Given the description of an element on the screen output the (x, y) to click on. 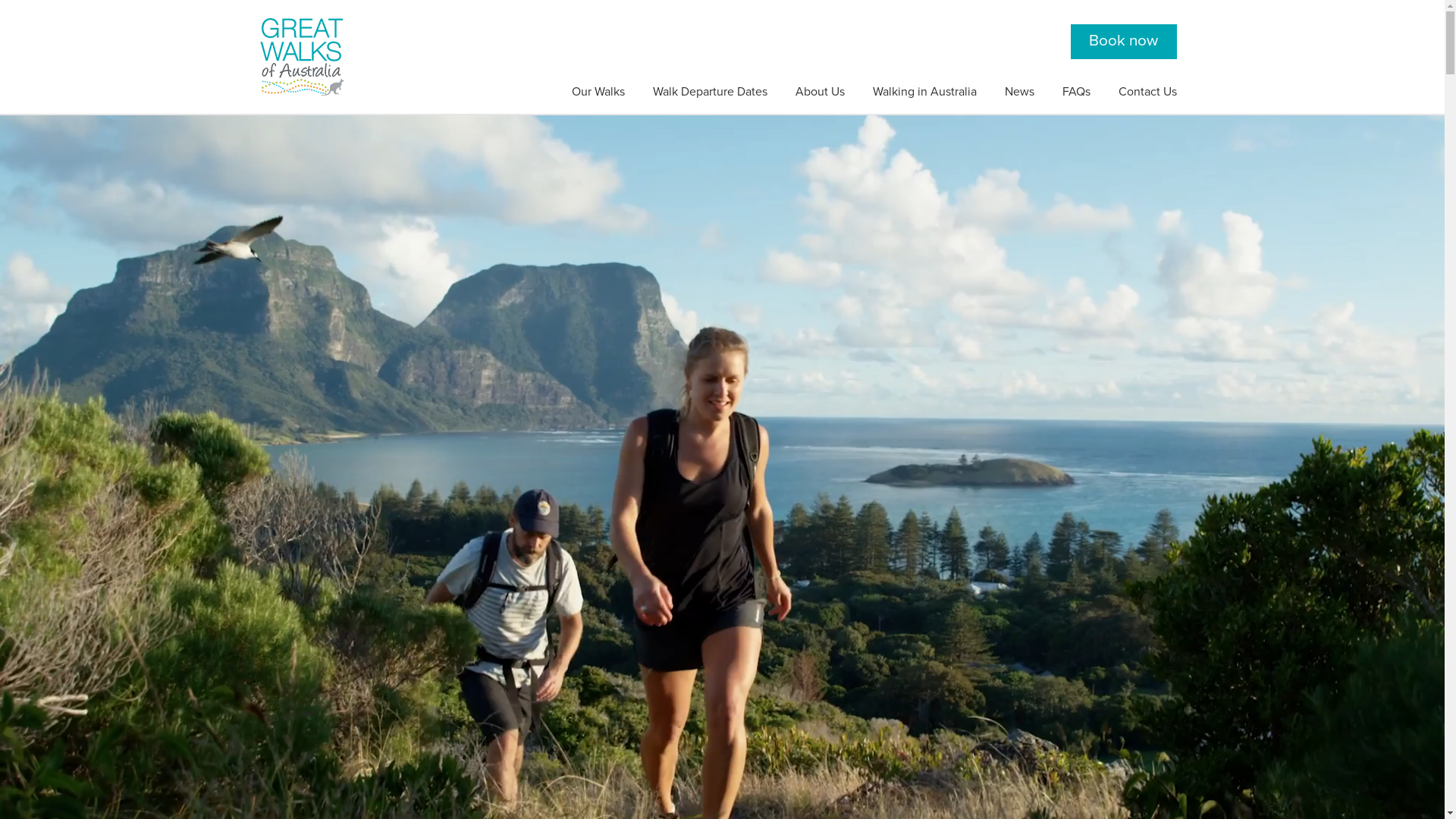
About Us Element type: text (819, 92)
News Element type: text (1018, 92)
Great Walks of Australia Element type: text (301, 56)
Book now Element type: text (1123, 41)
Walking in Australia Element type: text (923, 92)
Contact Us Element type: text (1146, 92)
Our Walks Element type: text (598, 92)
Walk Departure Dates Element type: text (709, 92)
FAQs Element type: text (1075, 92)
